Given the description of an element on the screen output the (x, y) to click on. 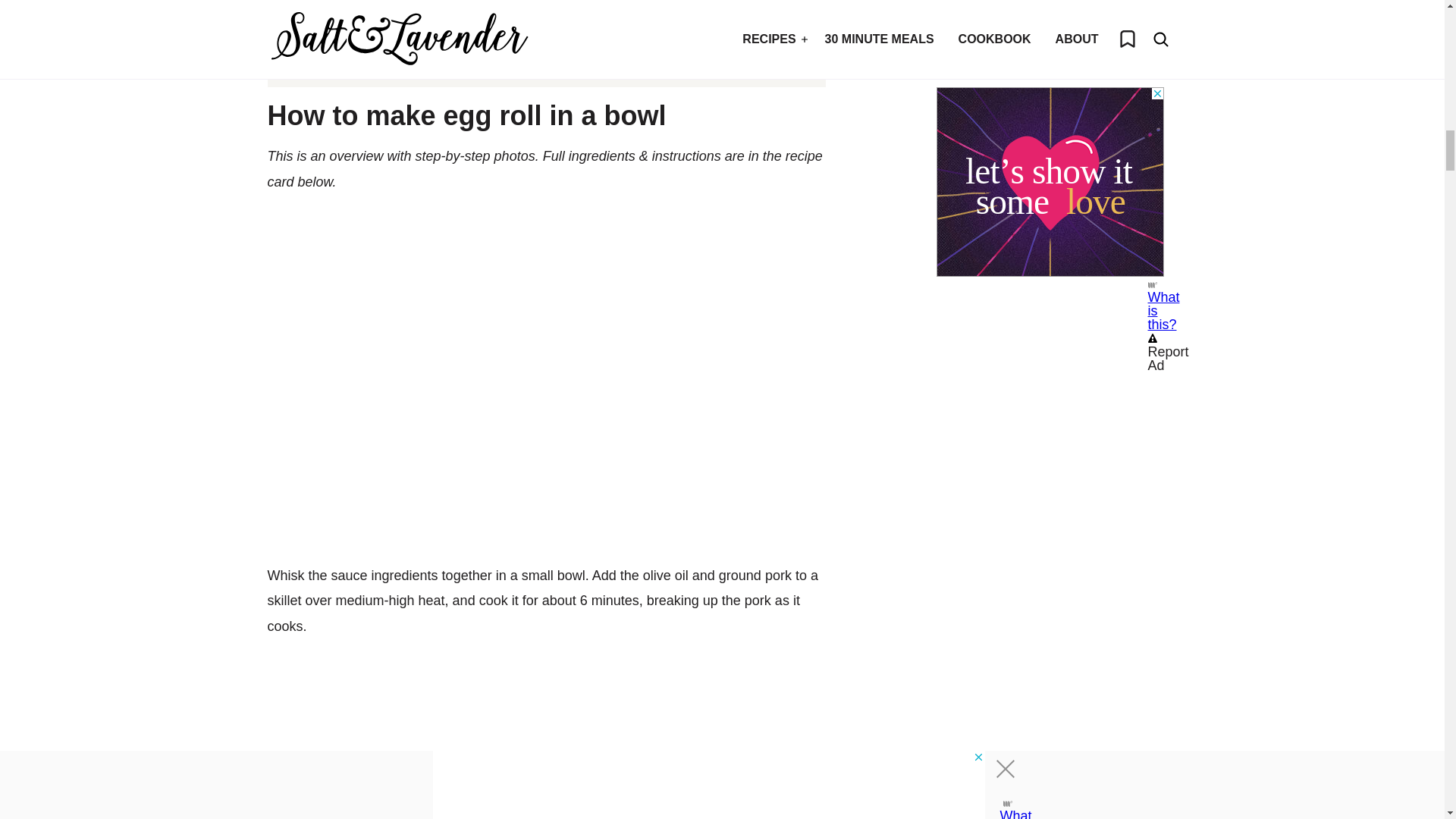
3rd party ad content (1049, 52)
